Given the description of an element on the screen output the (x, y) to click on. 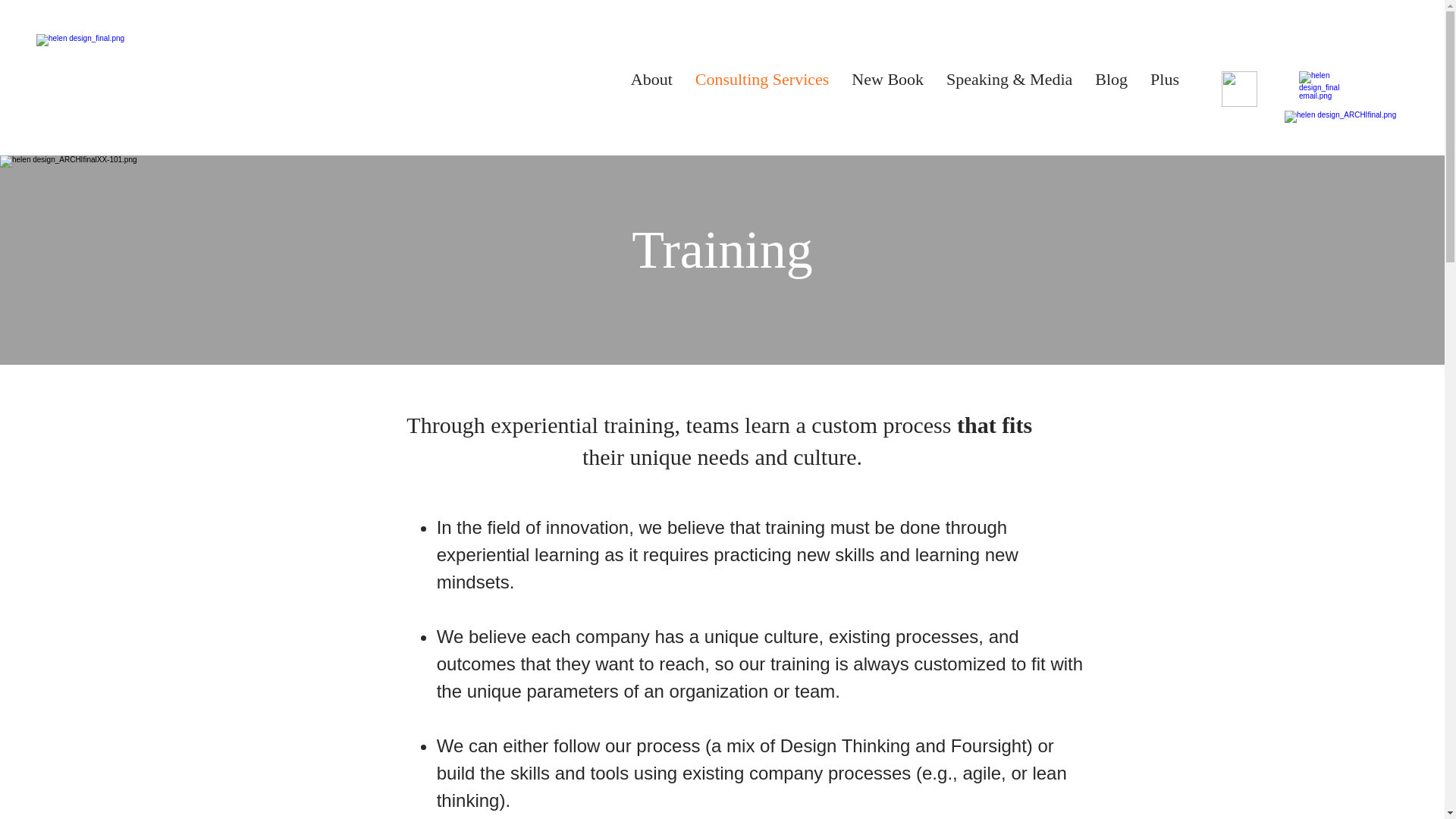
New Book (887, 89)
About (652, 89)
Blog (1110, 89)
Consulting Services (762, 89)
